Given the description of an element on the screen output the (x, y) to click on. 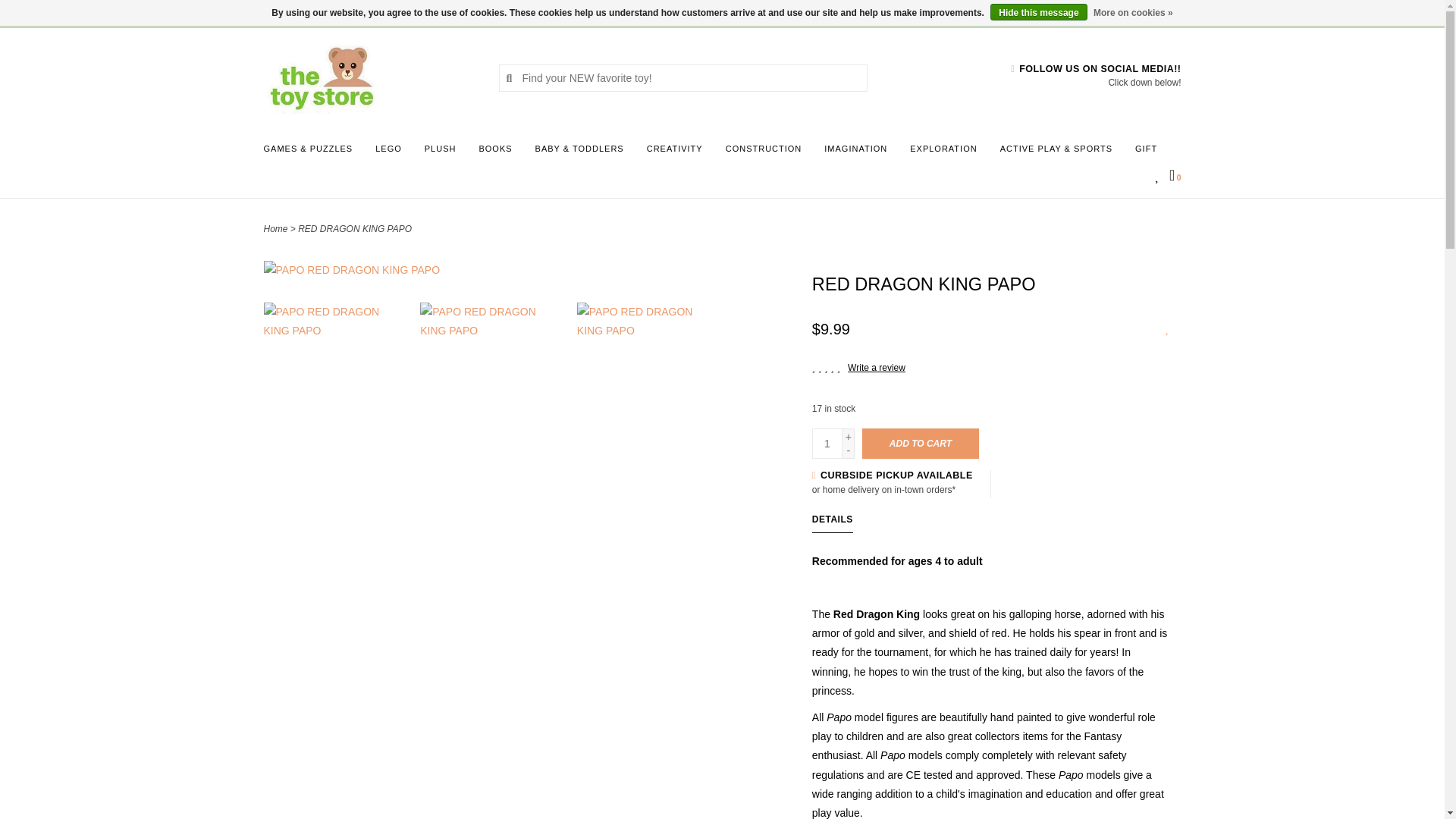
Login (390, 12)
Locations (1152, 12)
Contact us (341, 12)
My account (390, 12)
Currency (282, 12)
1 (827, 443)
THE TOY STORE (369, 77)
LEGO (392, 152)
